Given the description of an element on the screen output the (x, y) to click on. 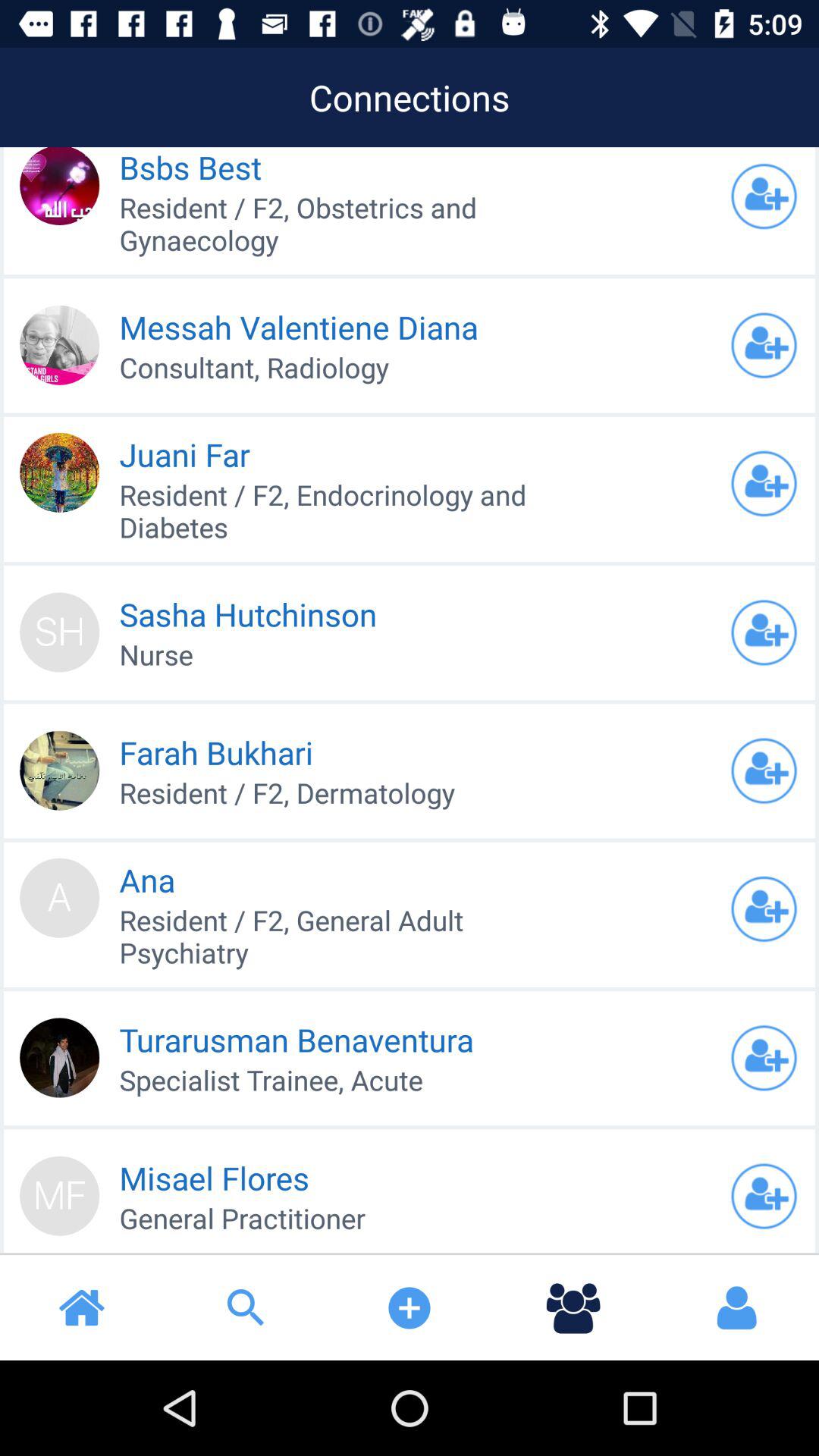
add to contacts (764, 483)
